Given the description of an element on the screen output the (x, y) to click on. 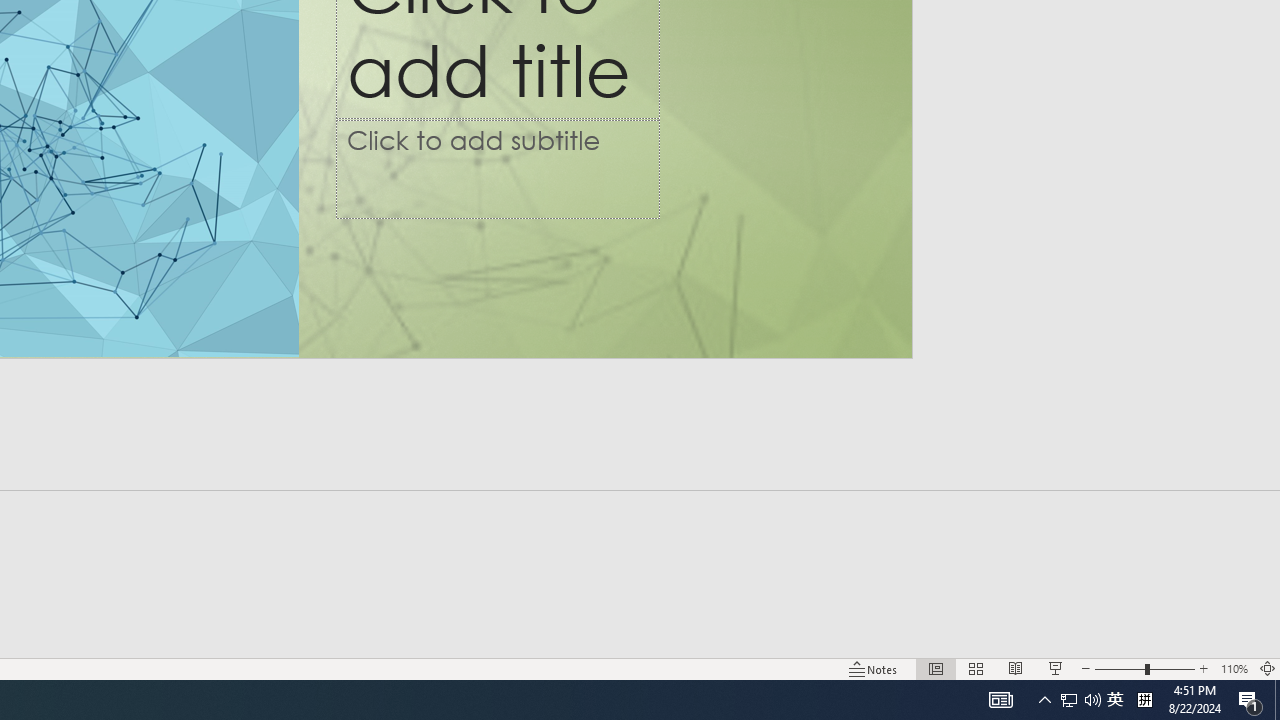
Q2790: 100% (1092, 699)
Reading View (1015, 668)
Tray Input Indicator - Chinese (Simplified, China) (1144, 699)
Normal (1069, 699)
